Given the description of an element on the screen output the (x, y) to click on. 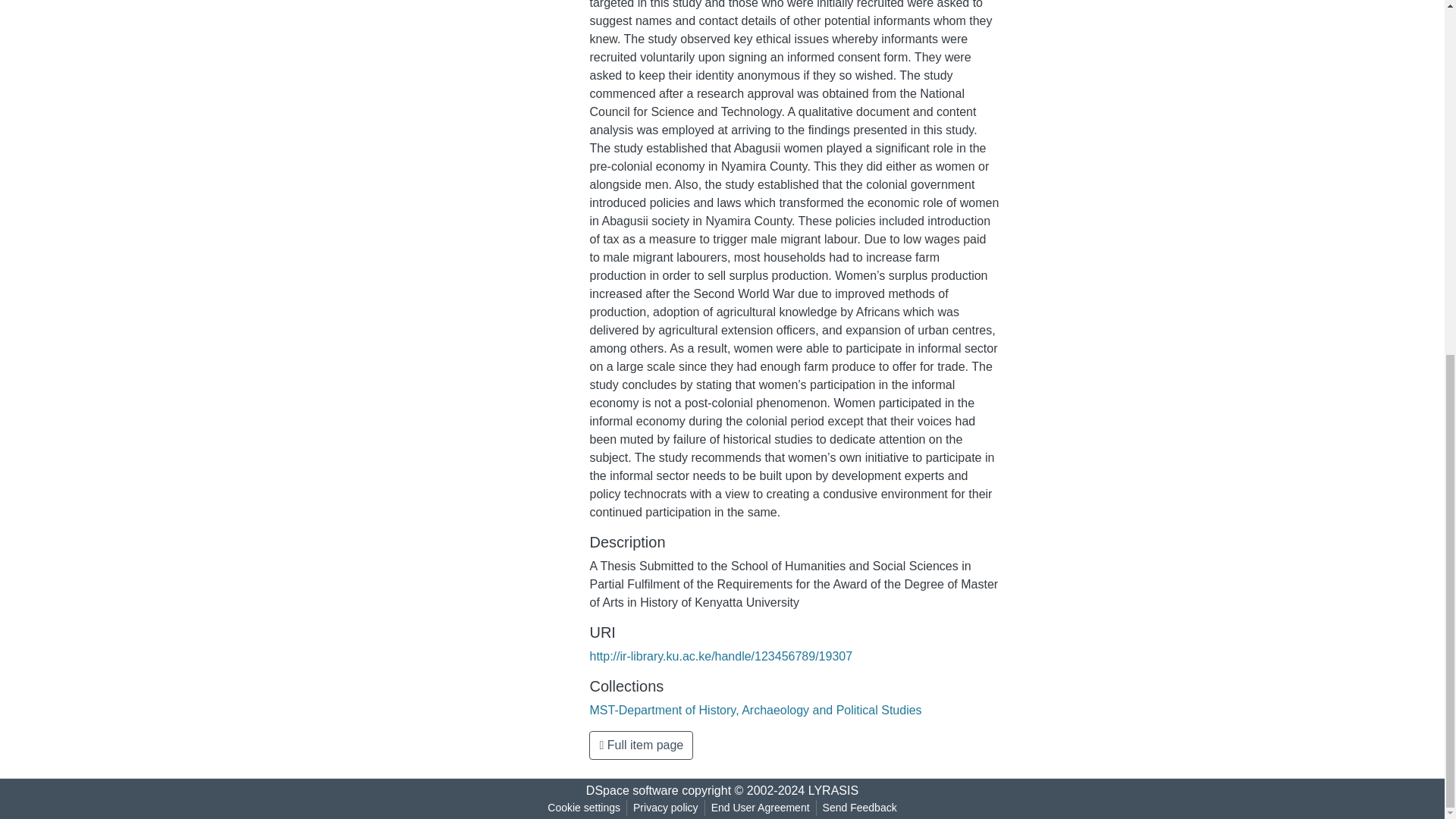
Privacy policy (665, 807)
Send Feedback (859, 807)
MST-Department of History, Archaeology and Political Studies (755, 709)
Full item page (641, 745)
Cookie settings (583, 807)
End User Agreement (759, 807)
LYRASIS (833, 789)
DSpace software (632, 789)
